Given the description of an element on the screen output the (x, y) to click on. 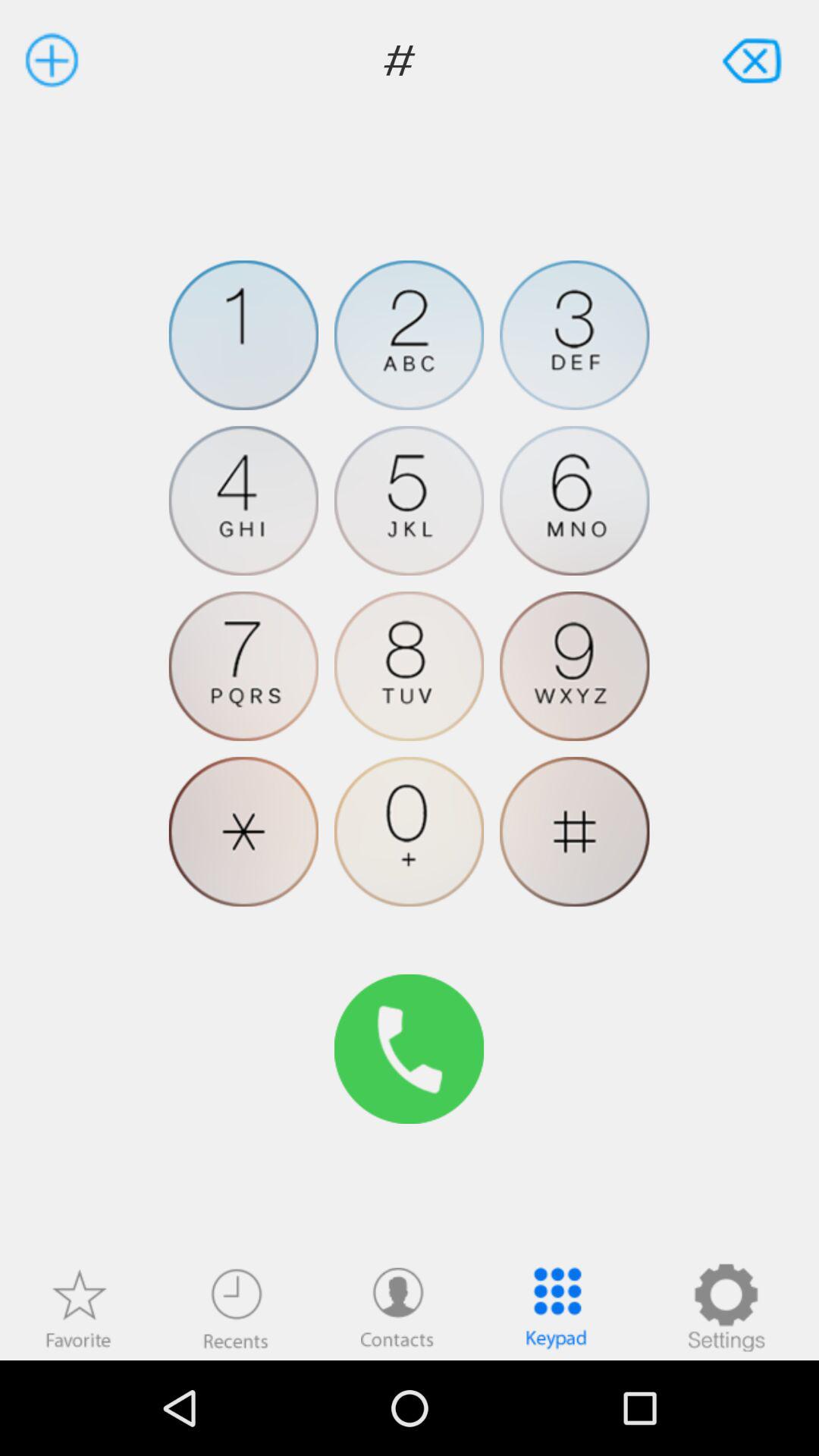
select settings option (725, 1307)
